Given the description of an element on the screen output the (x, y) to click on. 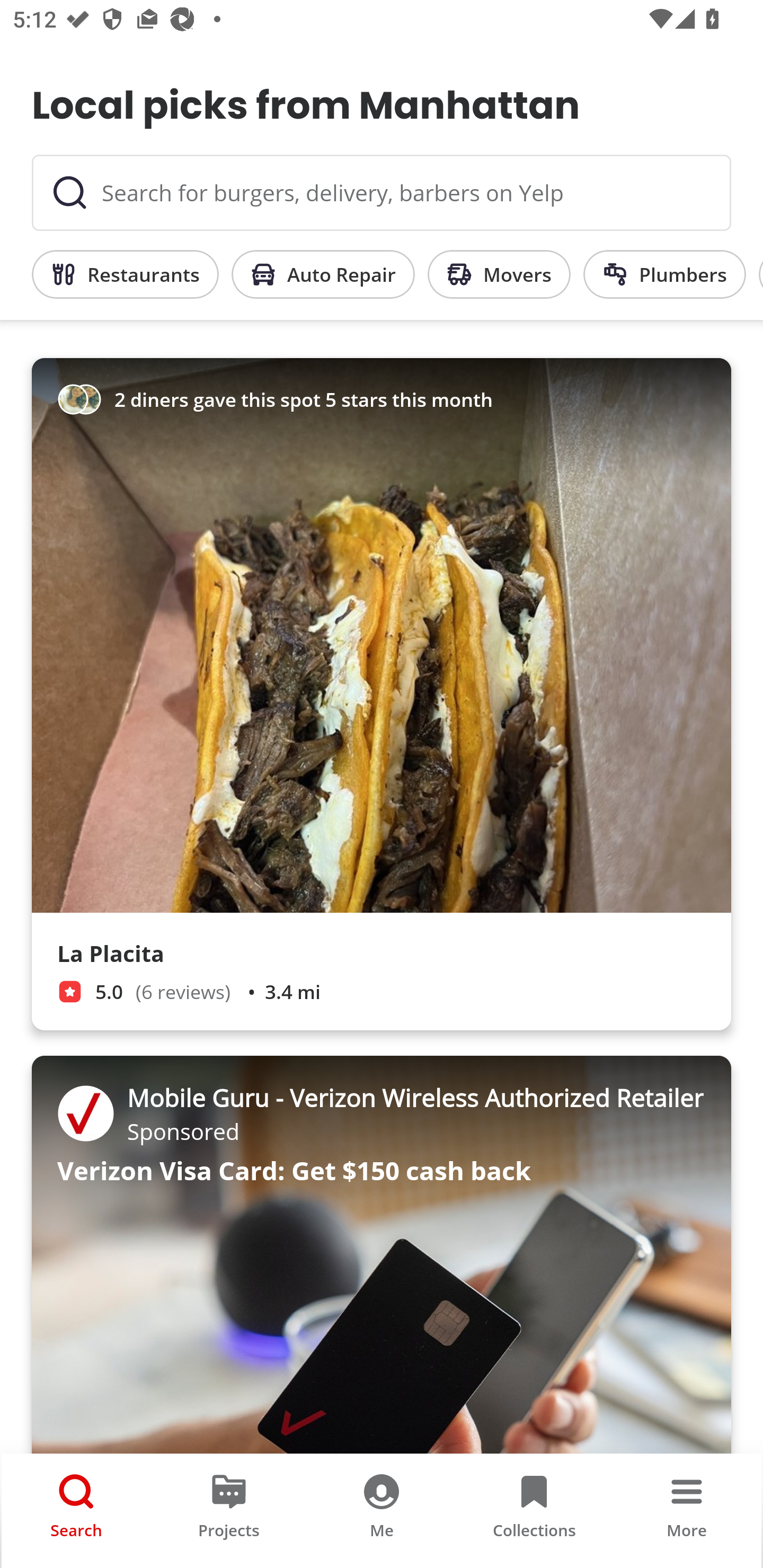
Search for burgers, delivery, barbers on Yelp (381, 192)
